Given the description of an element on the screen output the (x, y) to click on. 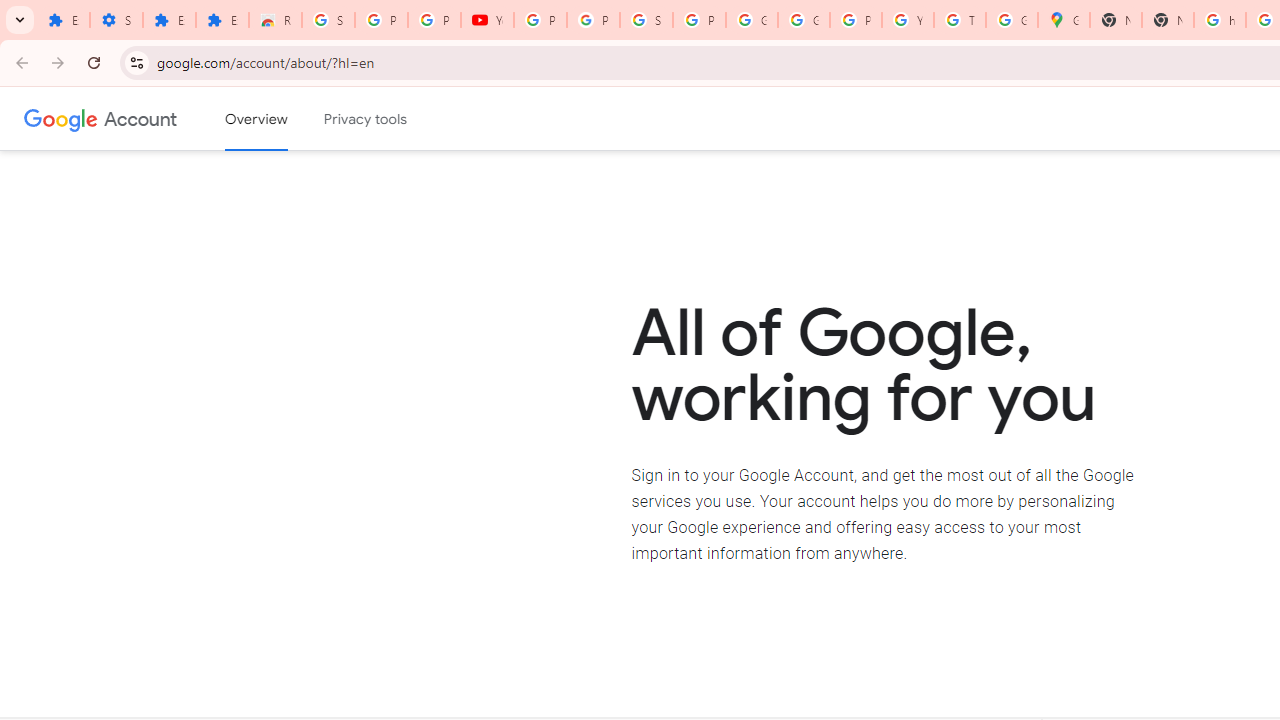
Google Maps (1064, 20)
Google Account overview (256, 119)
Google Account (140, 118)
